Given the description of an element on the screen output the (x, y) to click on. 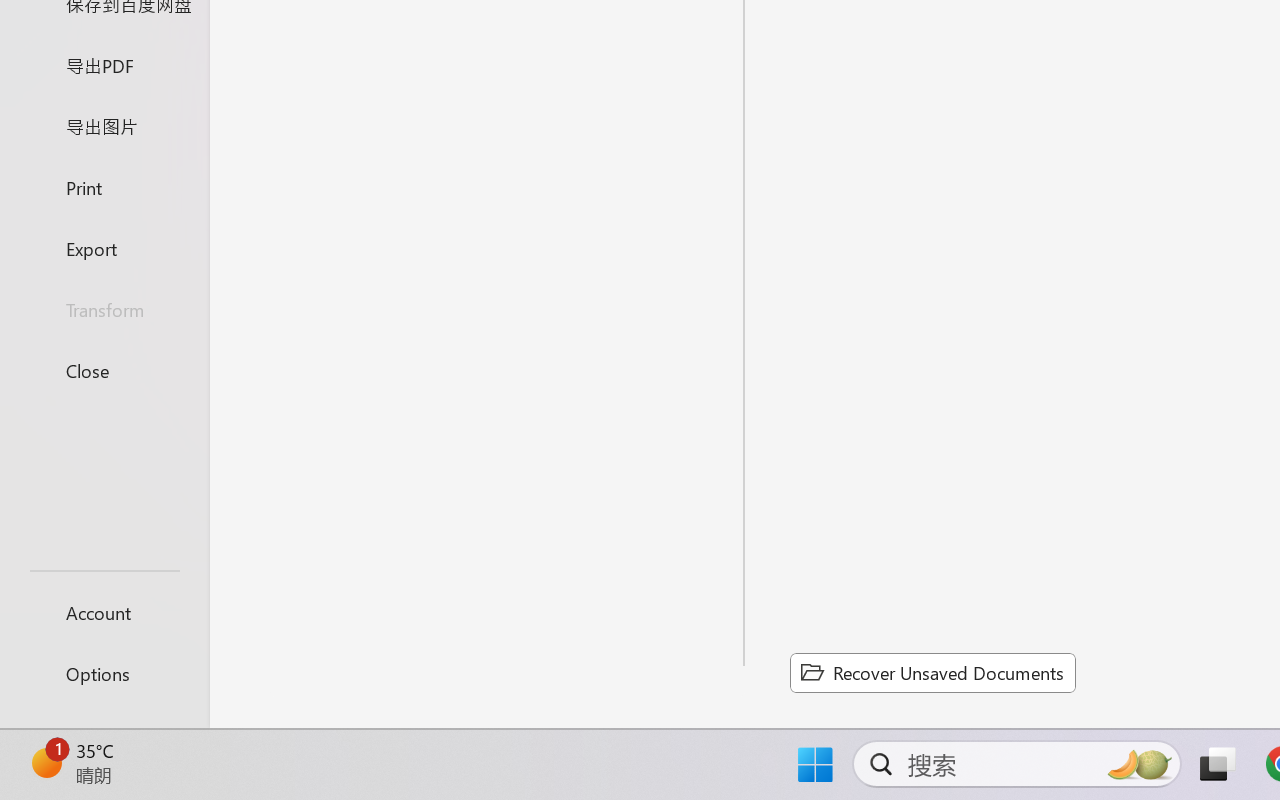
Options (104, 673)
Export (104, 248)
Print (104, 186)
Recover Unsaved Documents (932, 672)
Transform (104, 309)
Account (104, 612)
